Given the description of an element on the screen output the (x, y) to click on. 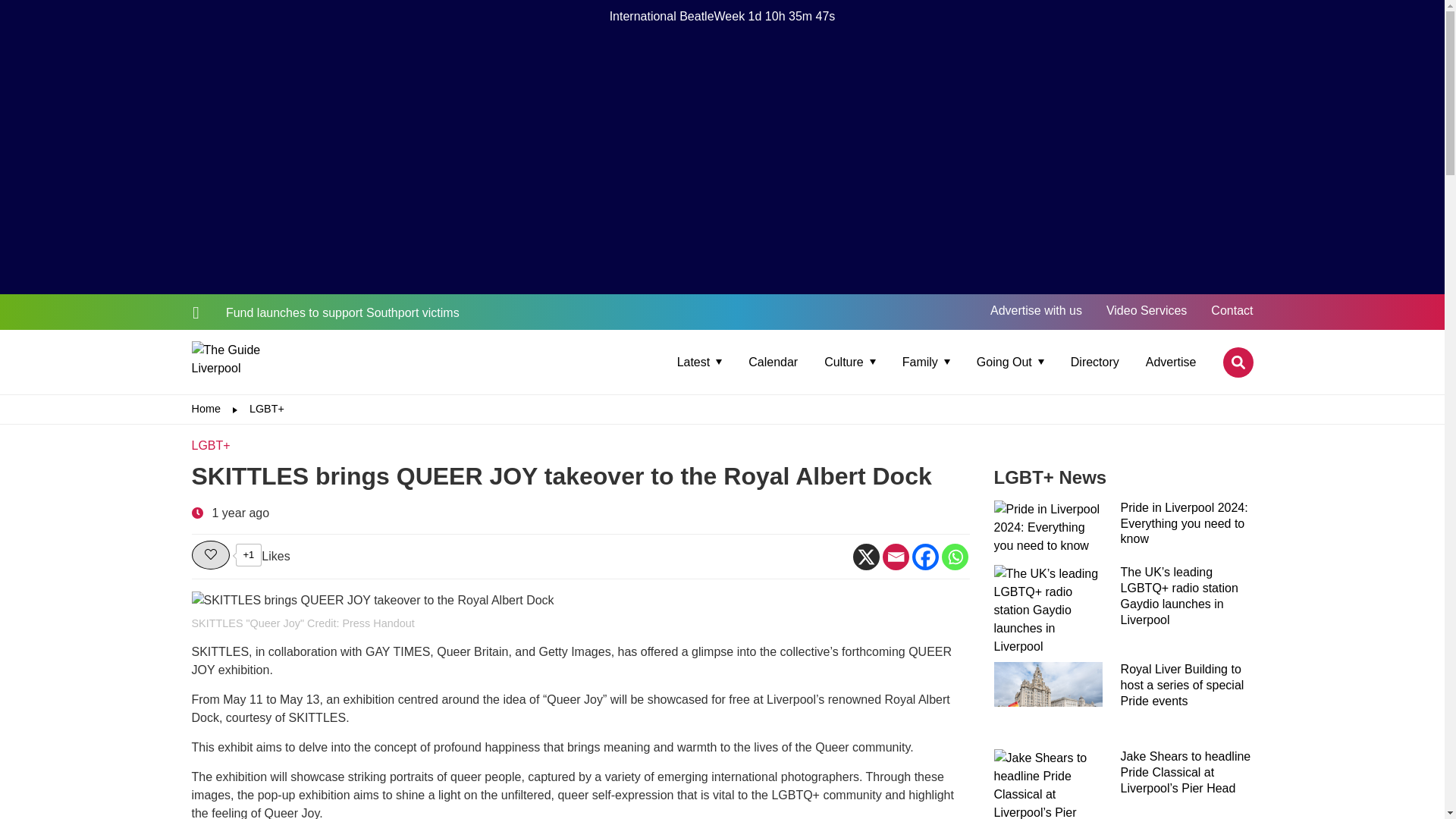
Email (895, 556)
Fund launches to support Southport victims (324, 312)
Contact (1231, 309)
X (865, 556)
Facebook (924, 556)
Whatsapp (955, 556)
Video Services (1146, 309)
Advertise with us (1035, 309)
